Given the description of an element on the screen output the (x, y) to click on. 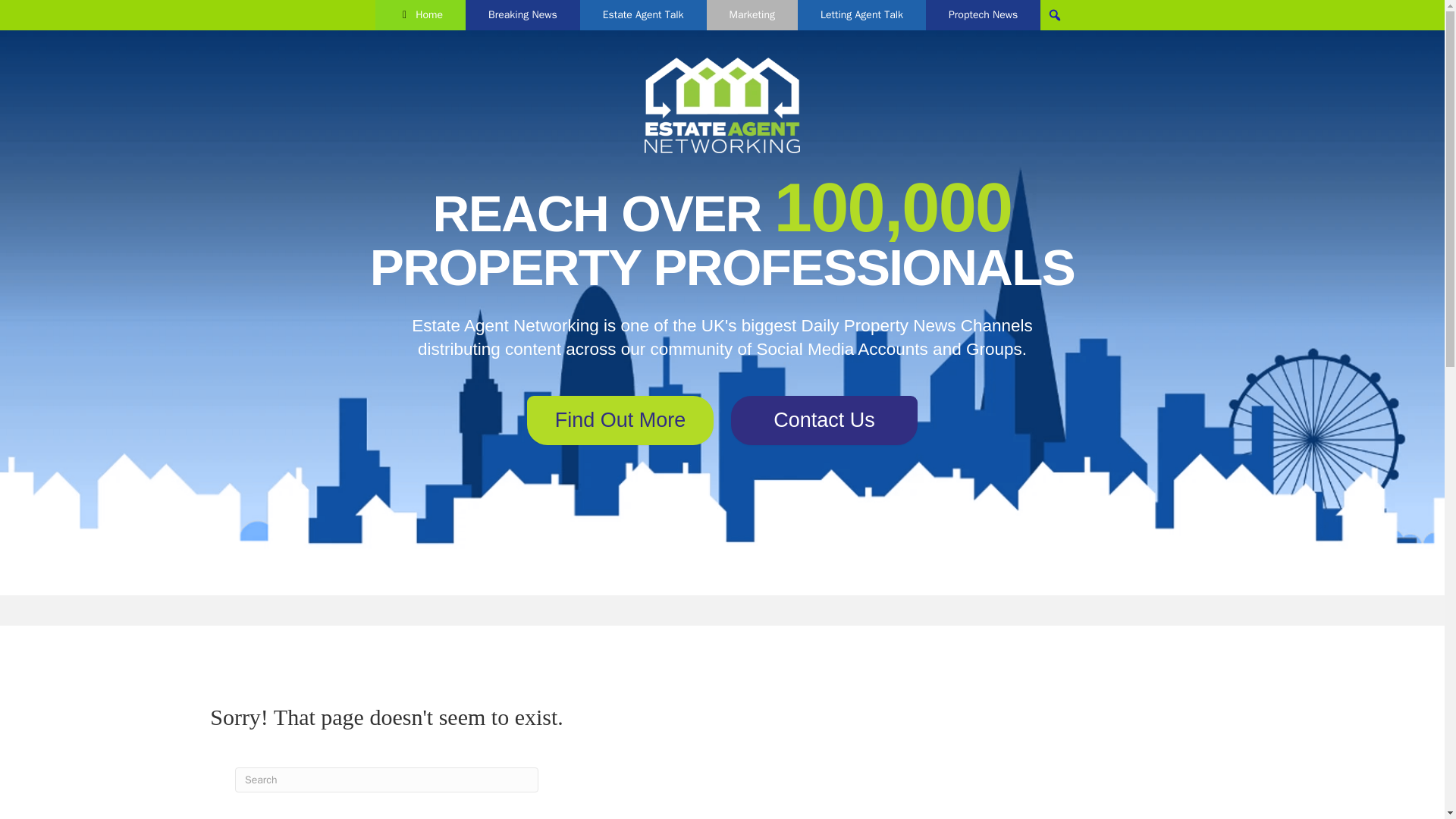
Estate Agent Talk (642, 15)
Marketing (751, 15)
Search (16, 12)
Contact Us (824, 420)
Proptech News (983, 15)
Letting Agent Talk (861, 15)
Home (420, 15)
Find Out More (620, 420)
Breaking News (522, 15)
Type and press Enter to search. (386, 780)
